Given the description of an element on the screen output the (x, y) to click on. 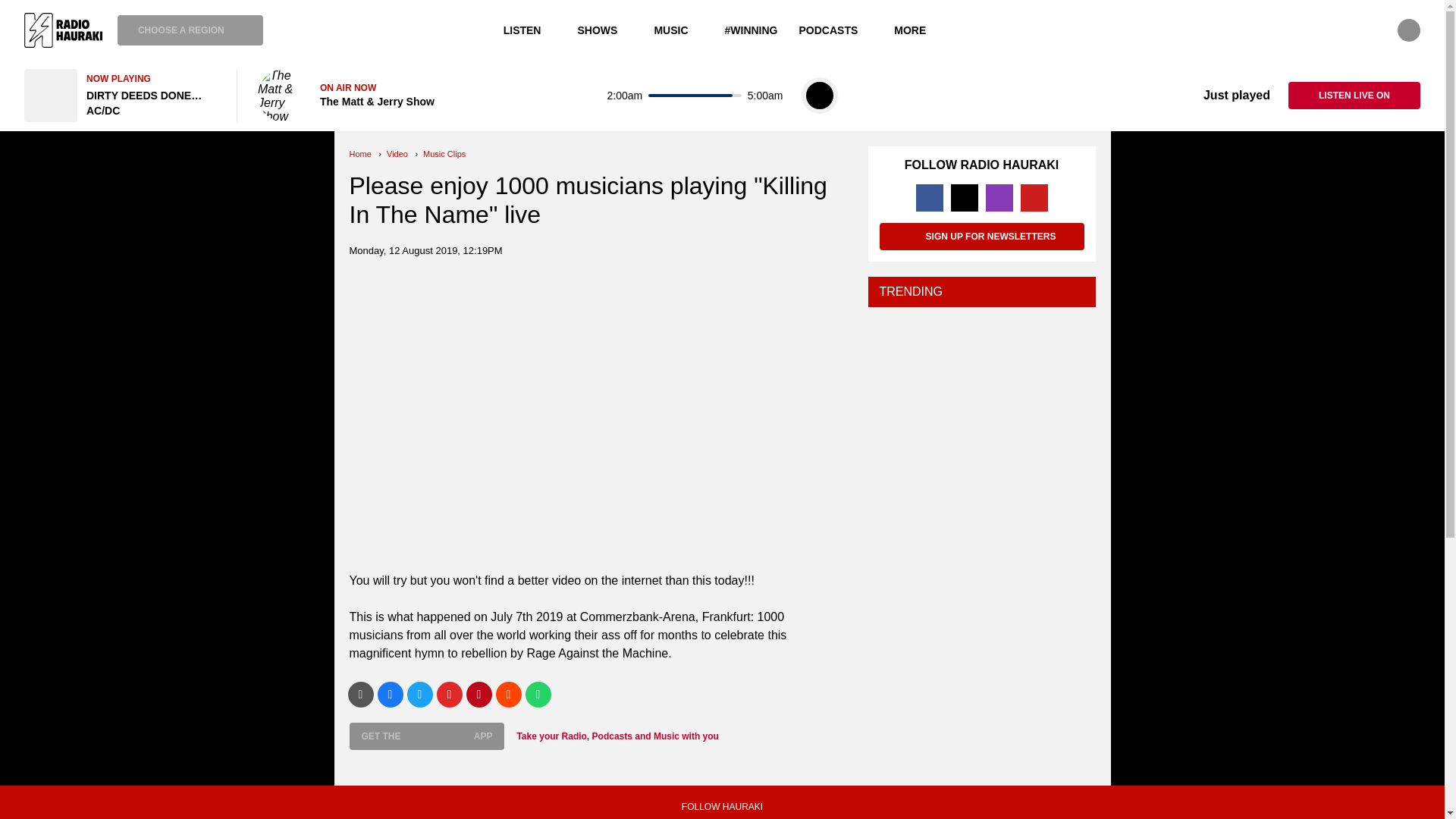
LISTEN (530, 30)
PODCASTS (836, 30)
Share with pinterest (478, 693)
Share with reddit (508, 693)
Share with twitter (419, 693)
CHOOSE A REGION (190, 30)
Share with flipboard (449, 693)
Hauraki (62, 29)
X (964, 197)
Share with facebook (390, 693)
